Given the description of an element on the screen output the (x, y) to click on. 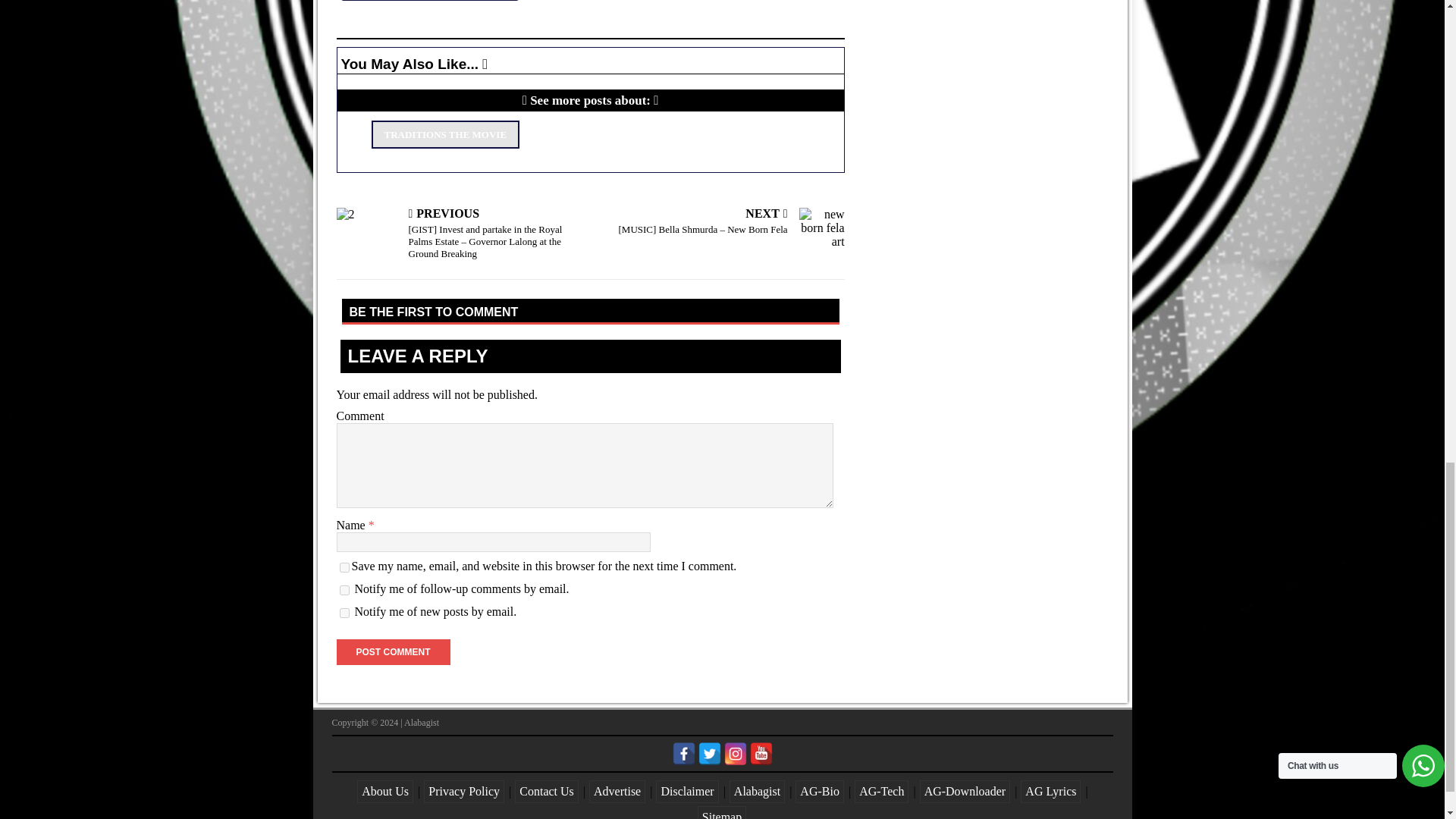
About Us (384, 791)
Disclaimer (686, 791)
Privacy Policy (463, 791)
subscribe (344, 590)
Post Comment (392, 652)
Post Comment (392, 652)
yes (344, 567)
TRADITIONS THE MOVIE (445, 134)
Contact Us (546, 791)
Alabagist (421, 722)
Alabagist (756, 791)
Advertise (617, 791)
subscribe (344, 613)
